Given the description of an element on the screen output the (x, y) to click on. 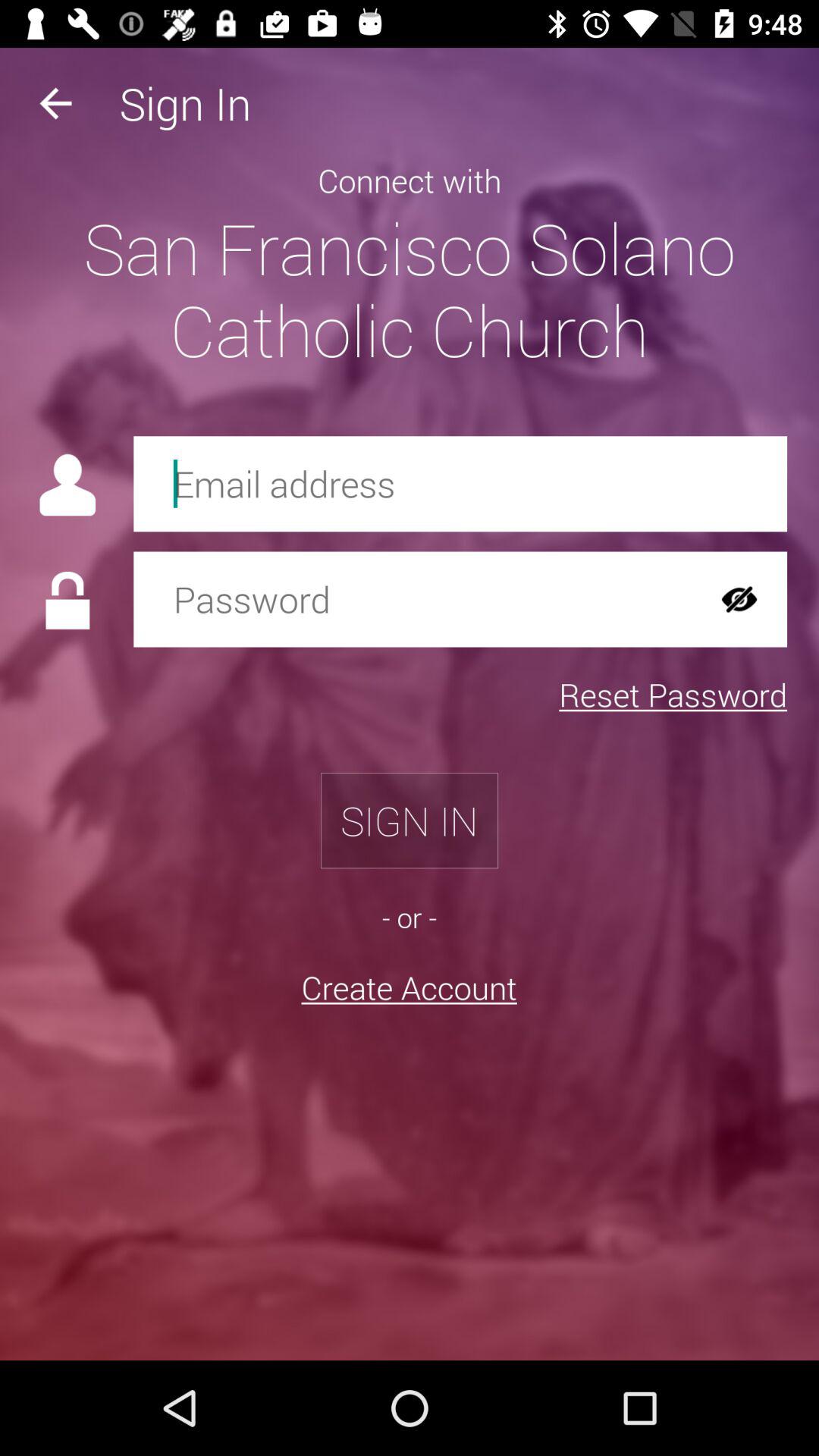
enter password for email account (412, 599)
